Given the description of an element on the screen output the (x, y) to click on. 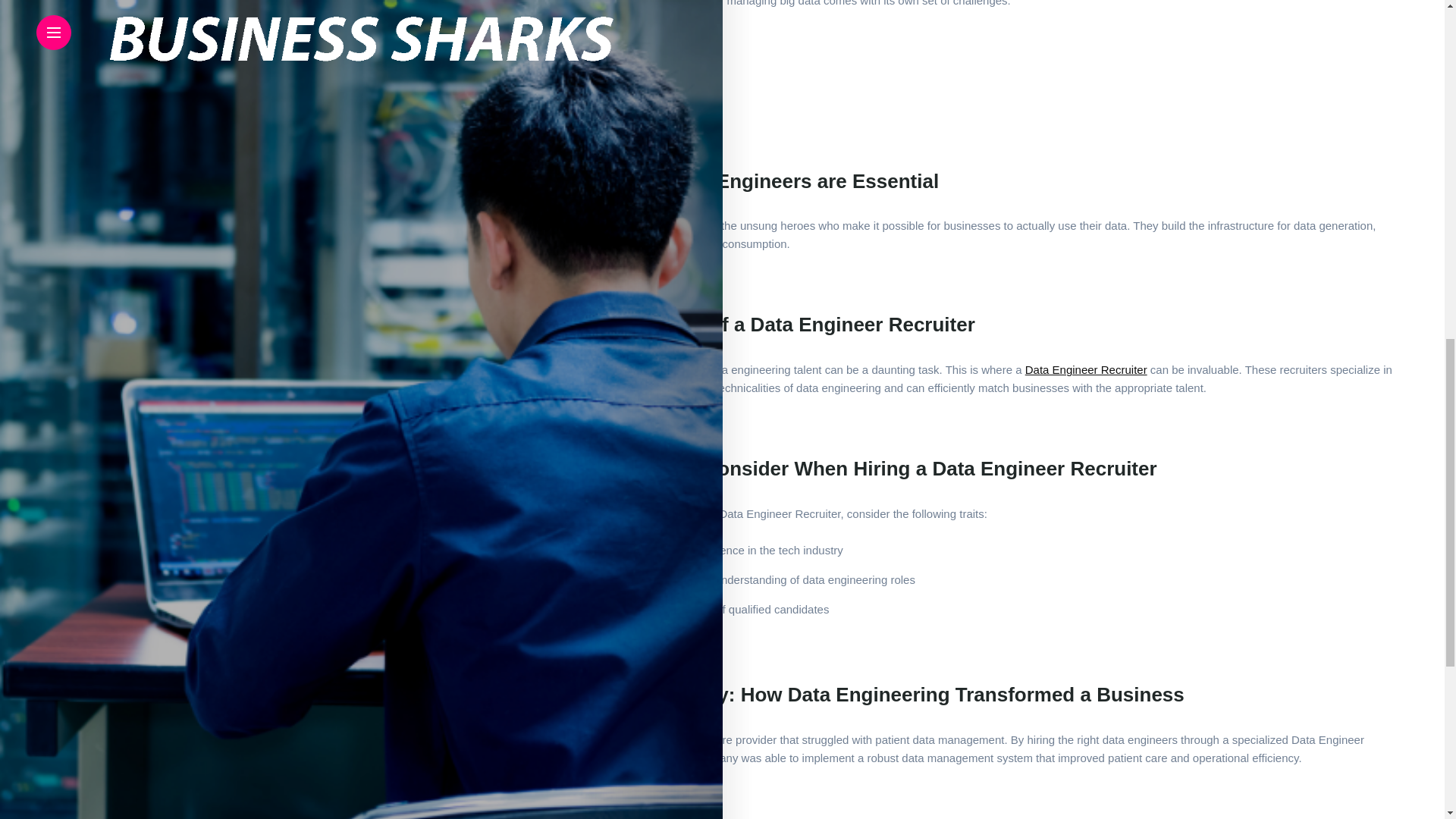
Data Engineer Recruiter (1035, 369)
